Given the description of an element on the screen output the (x, y) to click on. 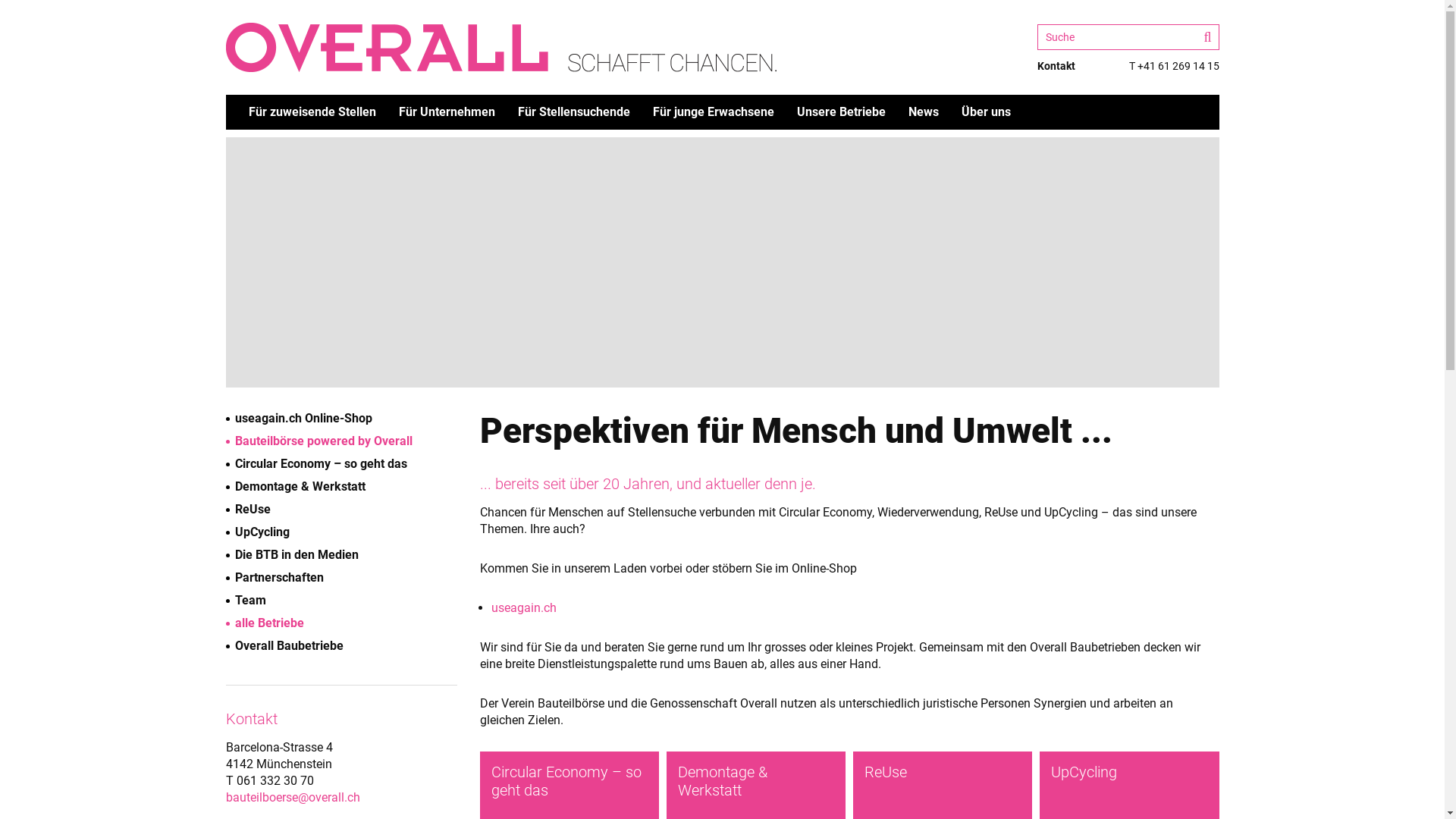
Unsere Betriebe Element type: text (840, 111)
News Element type: text (923, 111)
Die BTB in den Medien Element type: text (291, 554)
useagain.ch Online-Shop Element type: text (298, 418)
bauteilboerse@overall.ch Element type: text (292, 797)
alle Betriebe Element type: text (264, 623)
Team Element type: text (245, 600)
Partnerschaften Element type: text (274, 577)
useagain.ch Element type: text (523, 607)
Kontakt Element type: text (1056, 65)
Demontage & Werkstatt Element type: text (295, 486)
UpCycling Element type: text (257, 532)
ReUse Element type: text (247, 509)
Overall Baubetriebe Element type: text (284, 645)
